Given the description of an element on the screen output the (x, y) to click on. 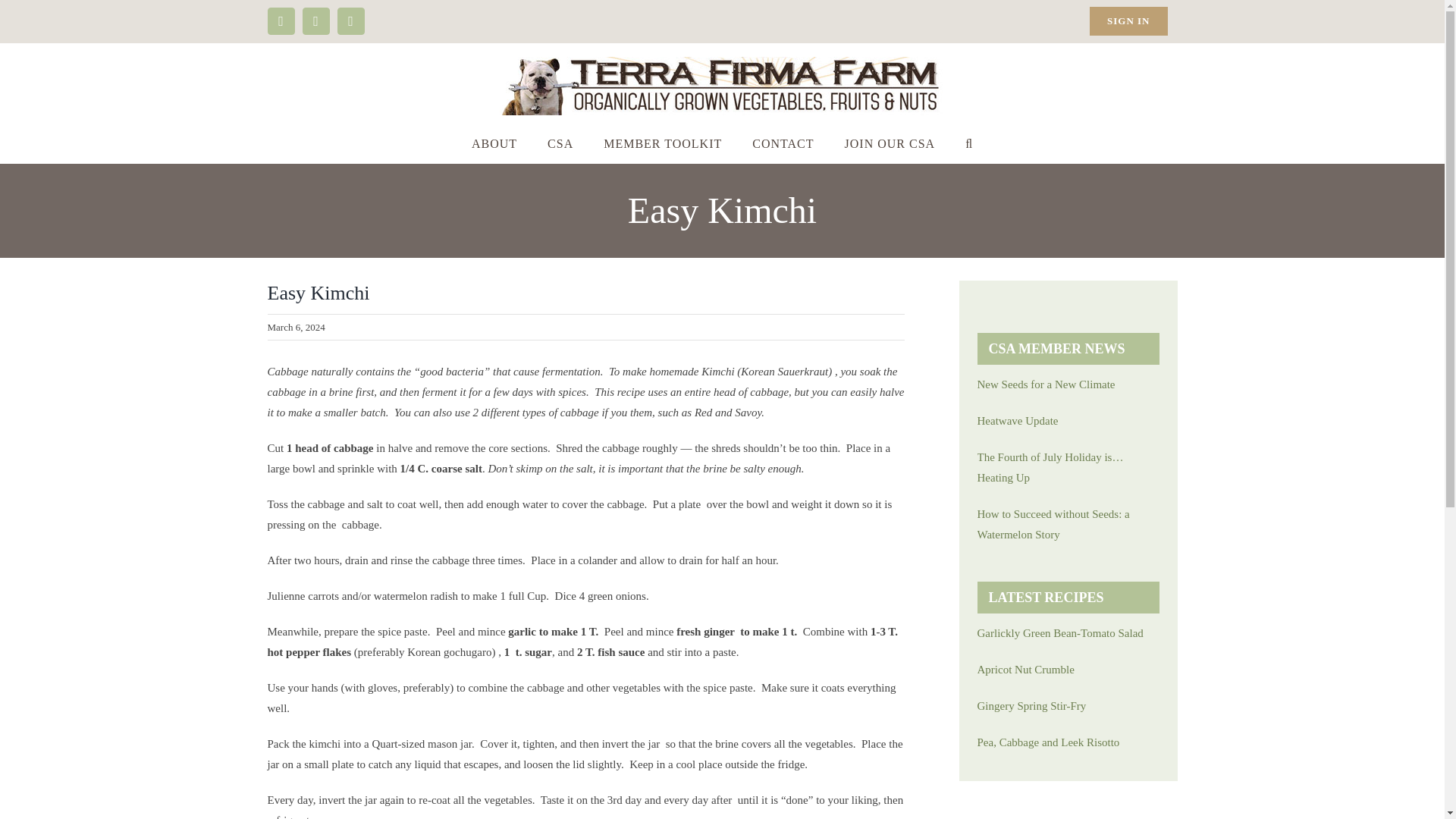
Gingery Spring Stir-Fry (1067, 706)
Instagram (315, 21)
Garlickly Green Bean-Tomato Salad (1067, 633)
SIGN IN (1128, 21)
Heatwave Update (1067, 421)
CSA (560, 143)
CONTACT (782, 143)
How to Succeed without Seeds: a Watermelon Story (1067, 524)
Apricot Nut Crumble (1067, 670)
Instagram (315, 21)
Yelp (350, 21)
New Seeds for a New Climate (1067, 384)
Facebook (280, 21)
Facebook (280, 21)
Pea, Cabbage and Leek Risotto (1067, 742)
